Given the description of an element on the screen output the (x, y) to click on. 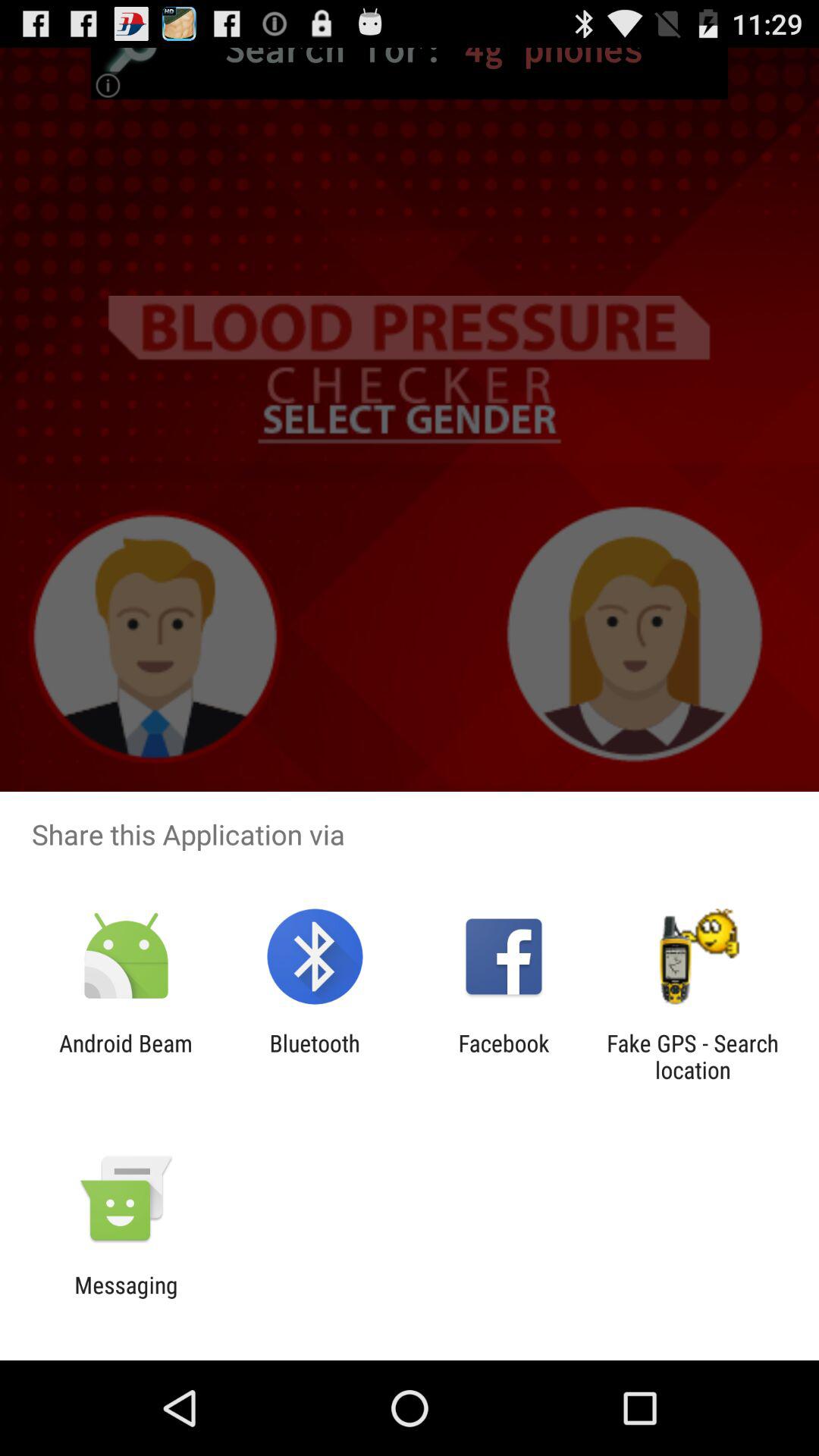
jump until bluetooth icon (314, 1056)
